Given the description of an element on the screen output the (x, y) to click on. 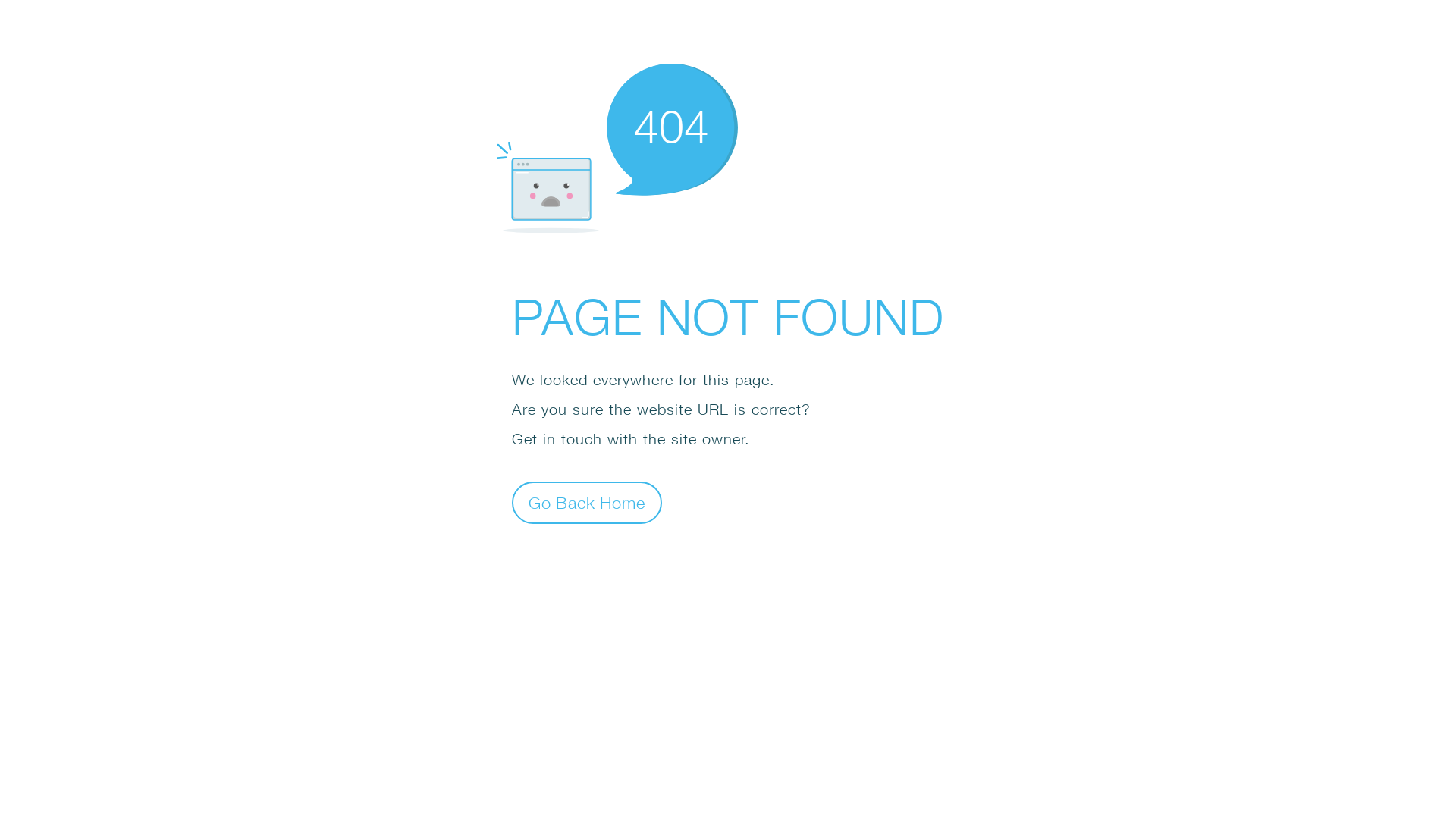
Go Back Home Element type: text (586, 502)
